Given the description of an element on the screen output the (x, y) to click on. 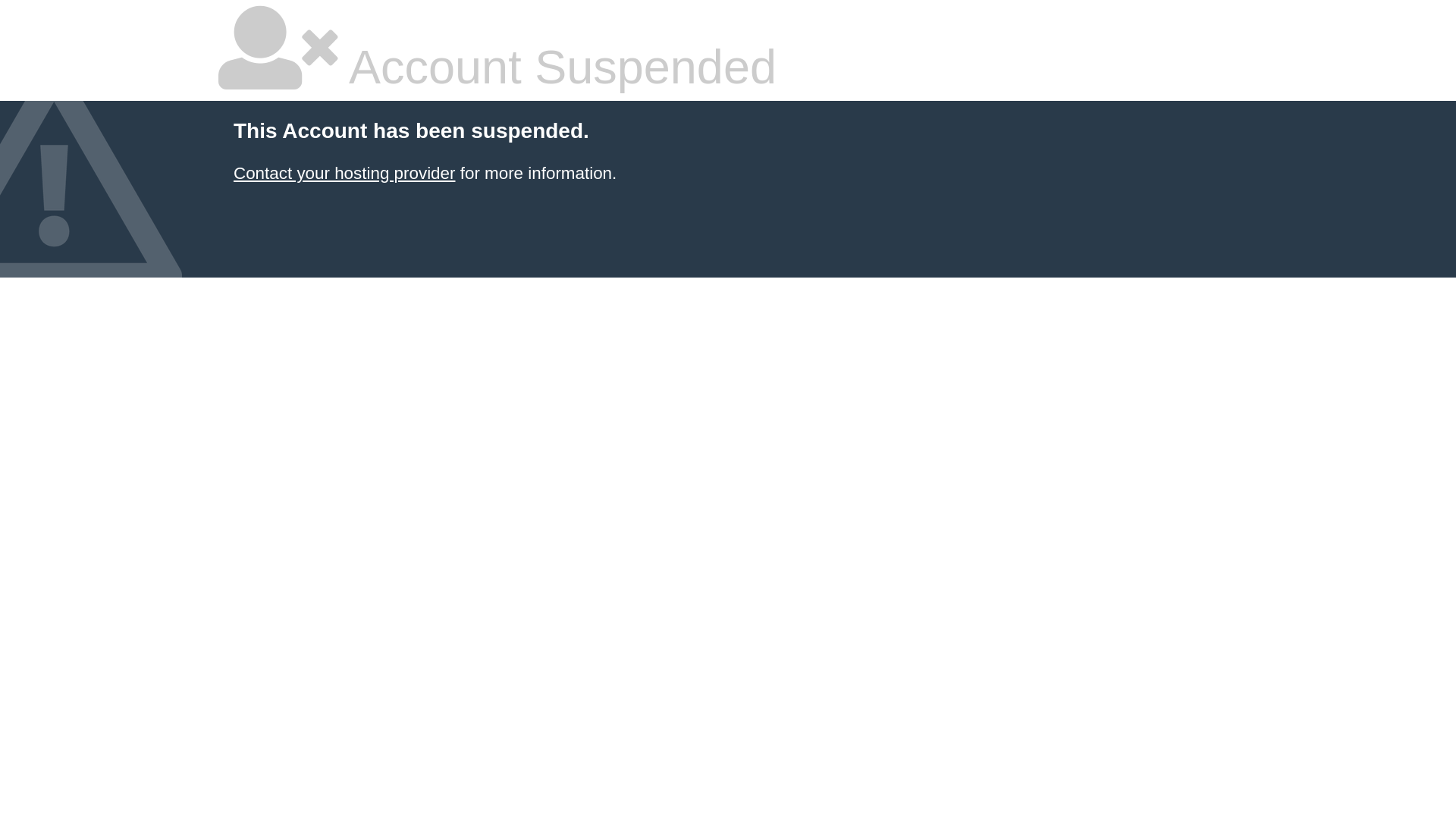
Contact your hosting provider Element type: text (344, 172)
